Given the description of an element on the screen output the (x, y) to click on. 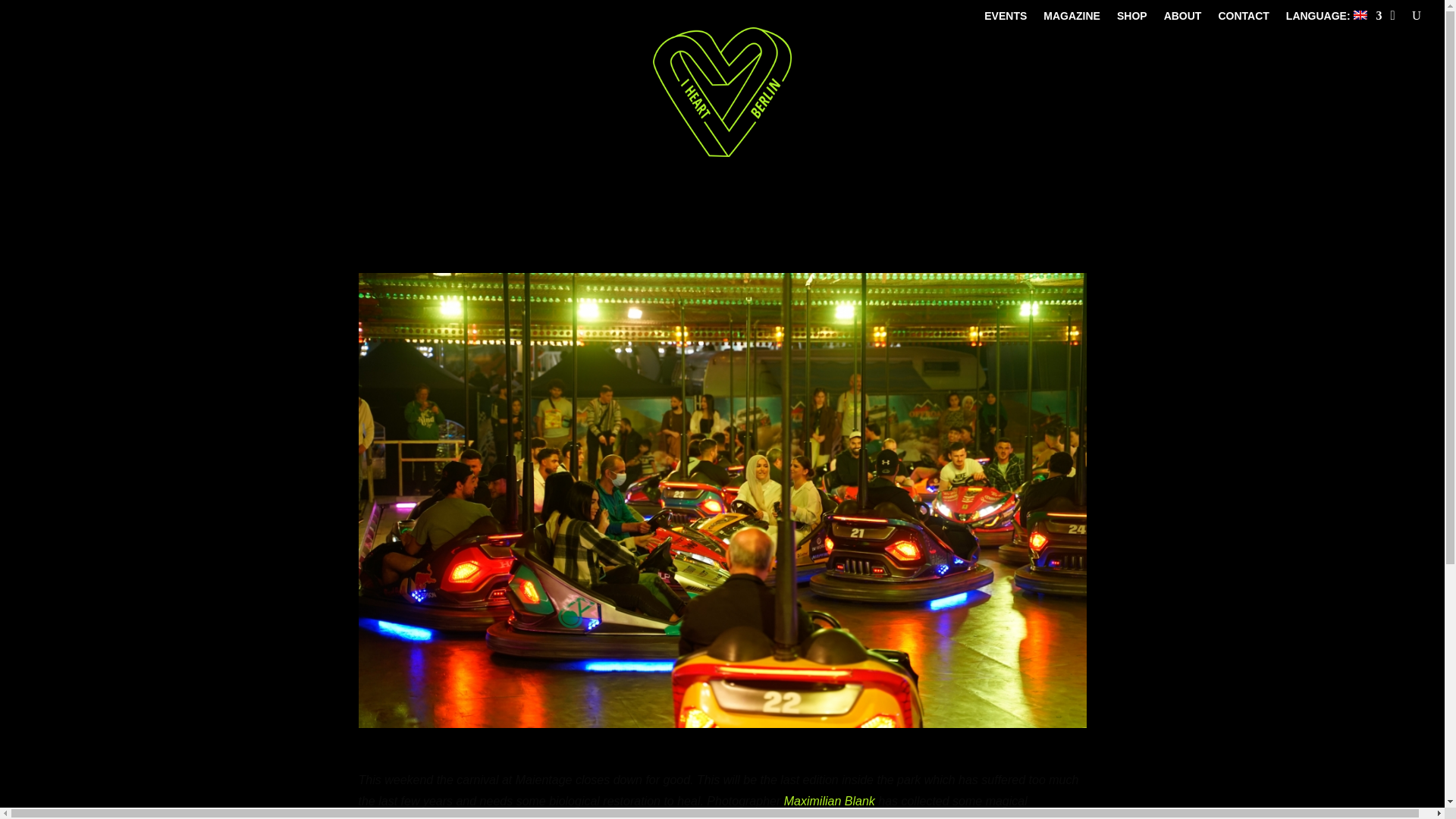
THE AMBIVALENT MAGIC OF MAIENTAGE IN HASENHEIDE (668, 750)
MAGAZINE (1071, 18)
SHOP (1131, 18)
Maximilian Blank (829, 800)
English (1333, 18)
iHeartBerlin-Logo-2020-neon (721, 92)
ABOUT (1182, 18)
LANGUAGE:  (1333, 18)
EVENTS (1005, 18)
CONTACT (1242, 18)
